Given the description of an element on the screen output the (x, y) to click on. 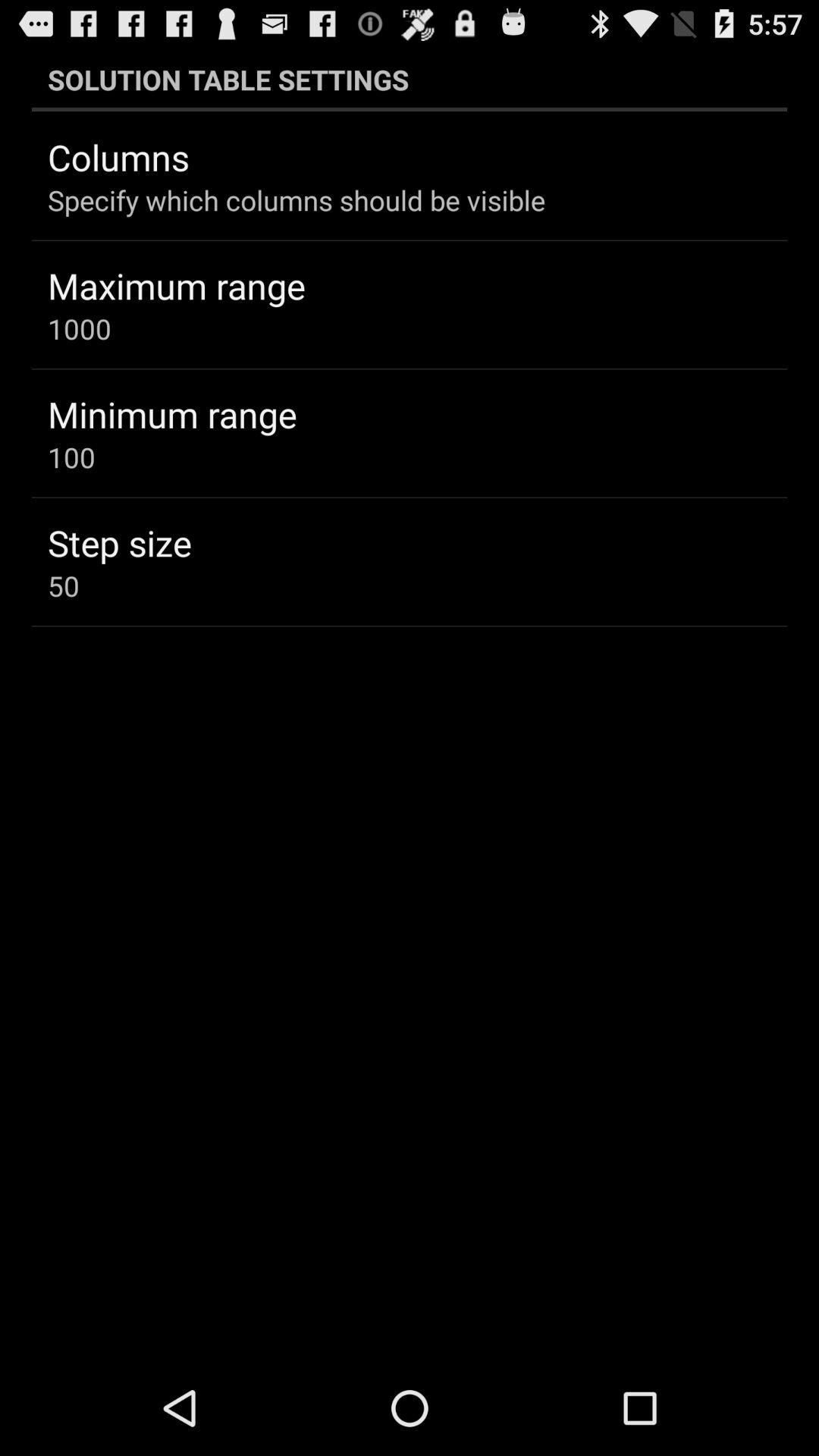
select the 50 app (63, 585)
